Given the description of an element on the screen output the (x, y) to click on. 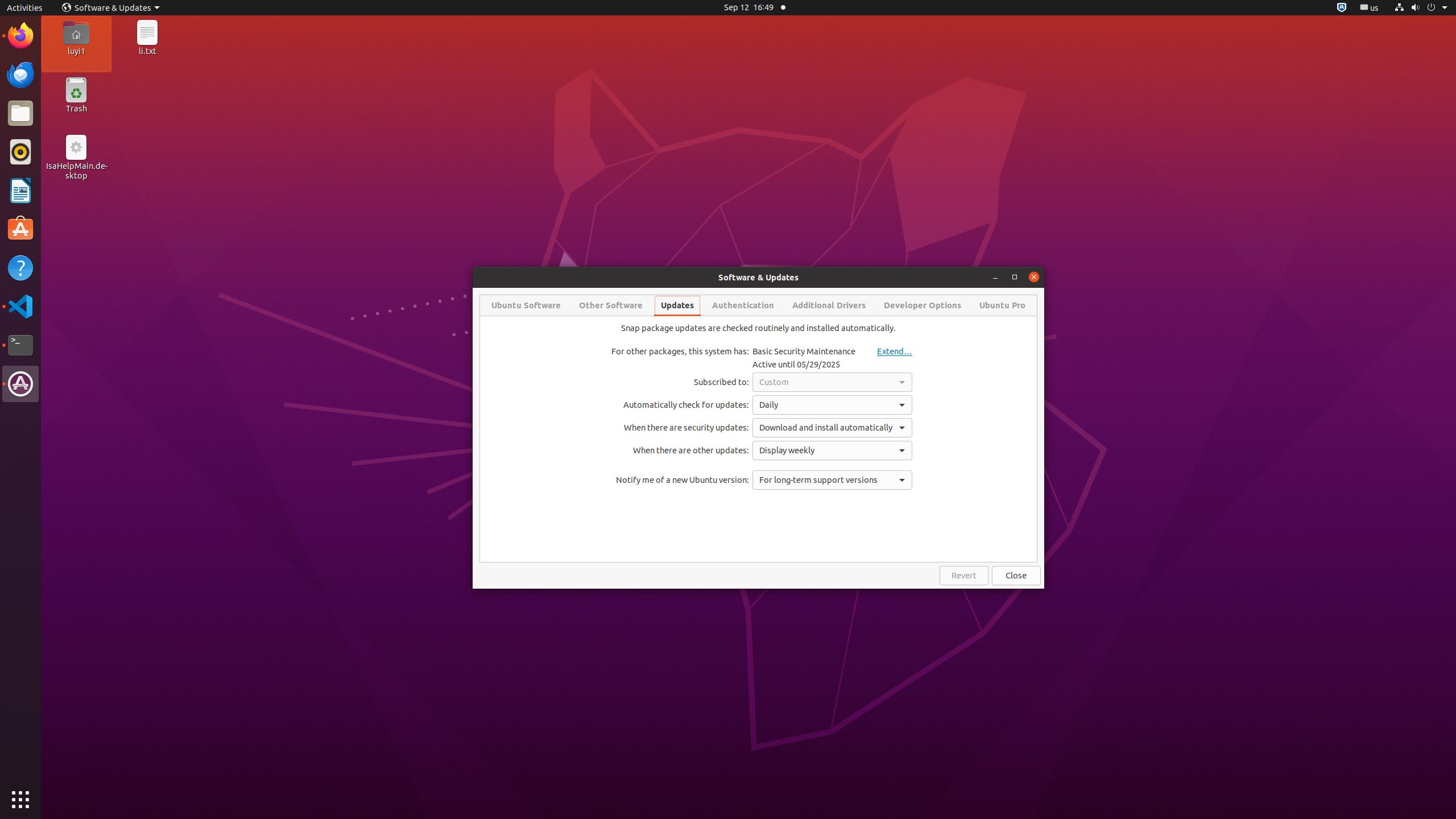
li.txt Element type: label (146, 50)
Basic Security Maintenance Element type: label (803, 351)
IsaHelpMain.desktop Element type: label (75, 170)
Ubuntu Pro Element type: page-tab (1002, 304)
